Given the description of an element on the screen output the (x, y) to click on. 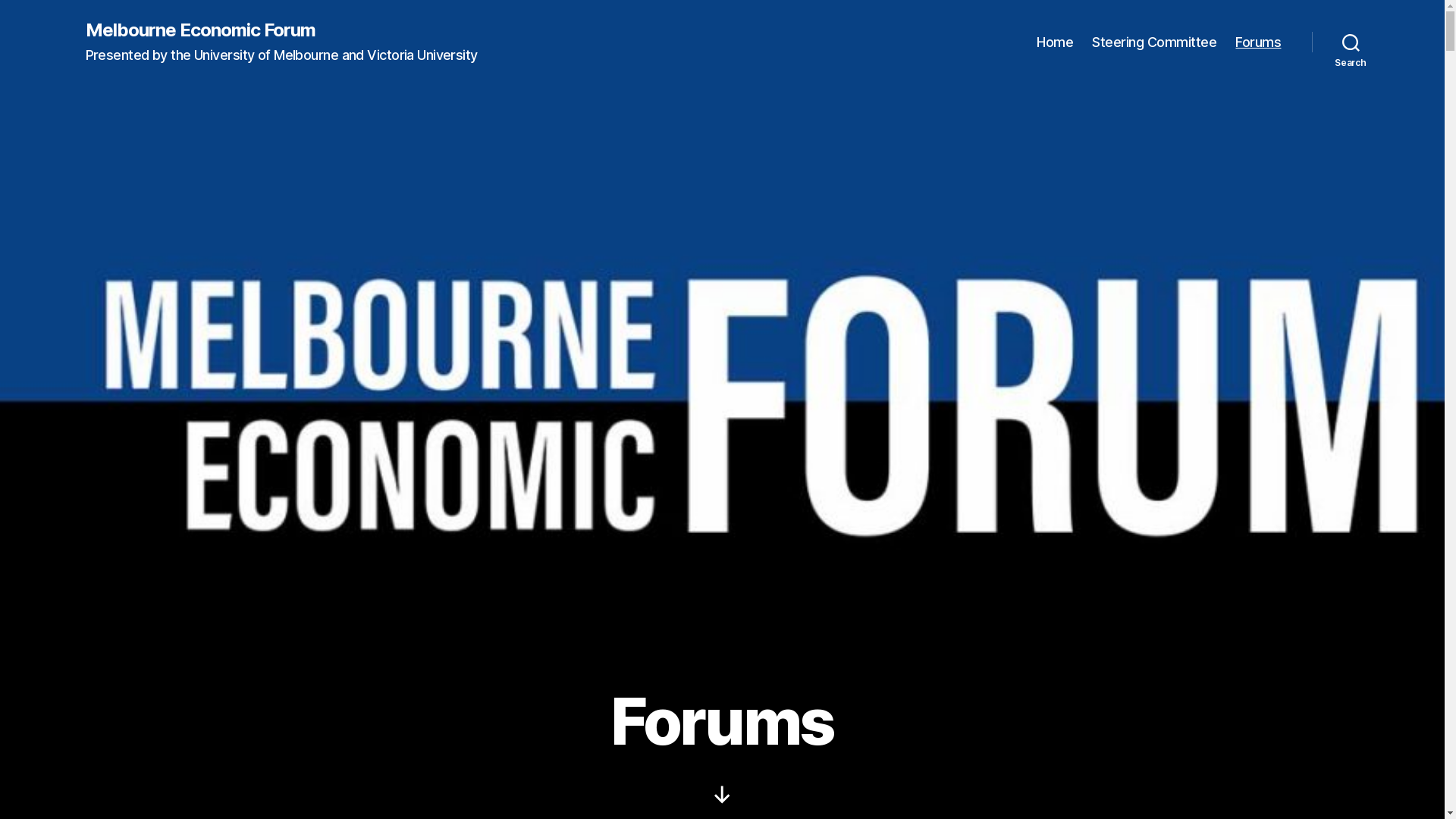
Scroll Down Element type: text (722, 794)
Forums Element type: text (1257, 42)
Melbourne Economic Forum Element type: text (199, 30)
Home Element type: text (1054, 42)
Steering Committee Element type: text (1154, 42)
Search Element type: text (1350, 42)
